Given the description of an element on the screen output the (x, y) to click on. 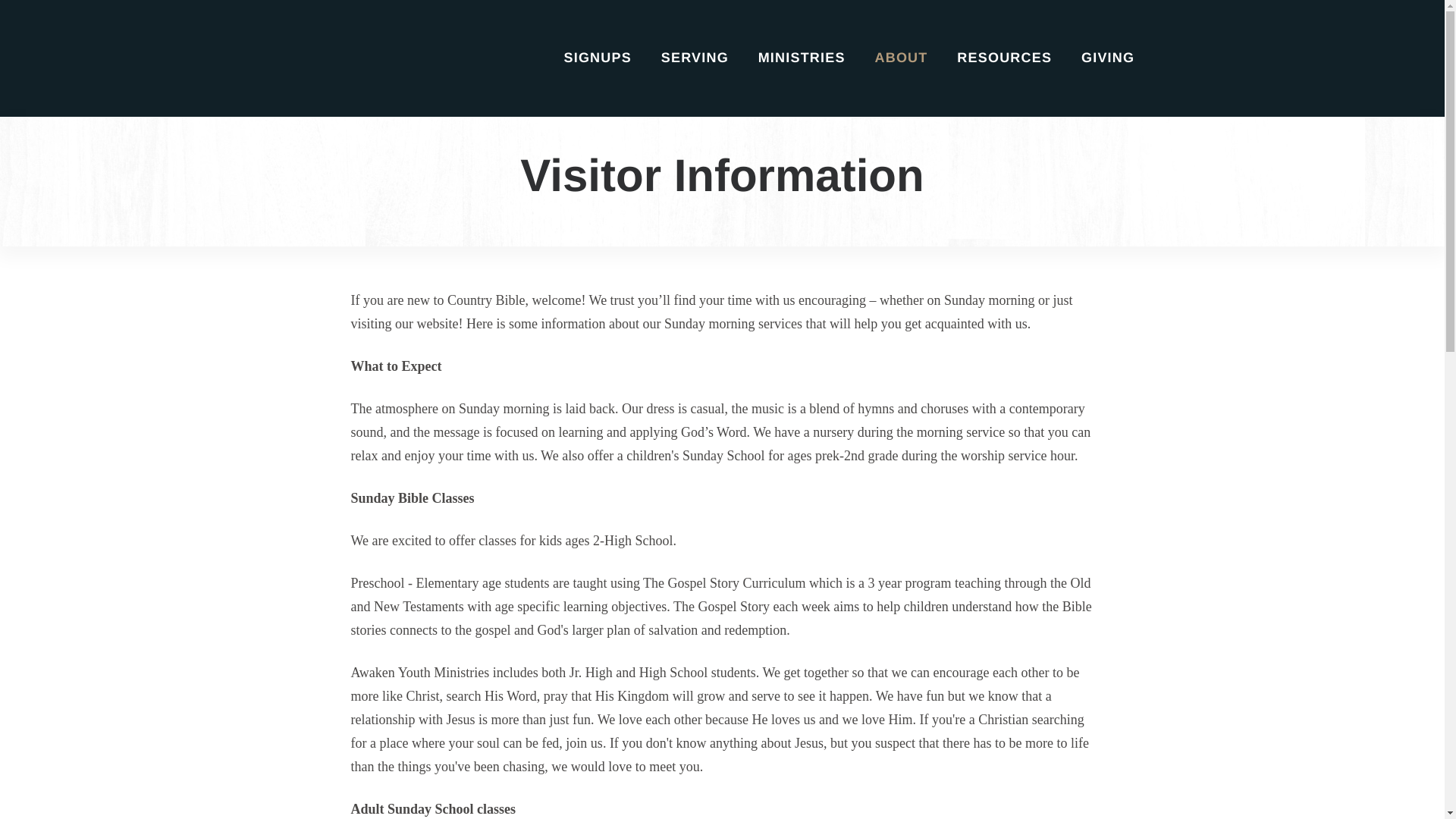
ABOUT (901, 72)
GIVING (1107, 72)
SIGNUPS (596, 72)
MINISTRIES (801, 72)
SERVING (695, 72)
RESOURCES (1003, 72)
